Given the description of an element on the screen output the (x, y) to click on. 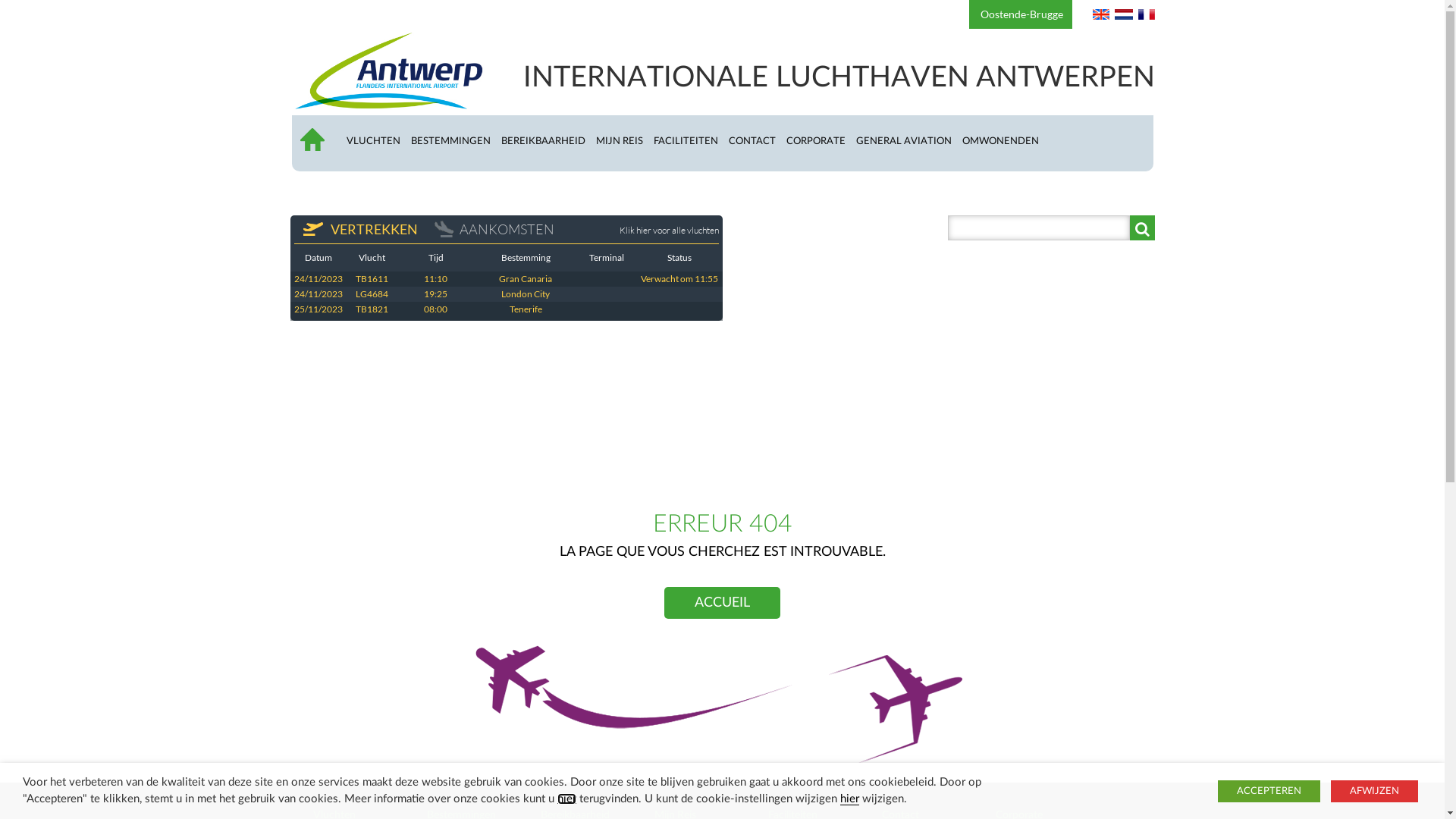
AFWIJZEN Element type: text (1374, 790)
Oostende-Brugge Element type: text (1020, 13)
Klik hier voor alle vluchten Element type: text (666, 229)
ACCUEIL Element type: text (317, 146)
hier Element type: text (566, 798)
ACCEPTEREN Element type: text (1268, 790)
ACCUEIL Element type: text (722, 602)
hier Element type: text (849, 799)
MIJN REIS Element type: text (624, 140)
AANKOMSTEN Element type: text (492, 228)
CORPORATE Element type: text (820, 140)
VLUCHTEN Element type: text (377, 140)
FACILITEITEN Element type: text (690, 140)
Rechercher Element type: text (1141, 227)
BESTEMMINGEN Element type: text (456, 140)
CONTACT Element type: text (756, 140)
GENERAL AVIATION Element type: text (908, 140)
BEREIKBAARHEID Element type: text (547, 140)
VERTREKKEN Element type: text (359, 228)
OMWONENDEN Element type: text (1004, 140)
